Given the description of an element on the screen output the (x, y) to click on. 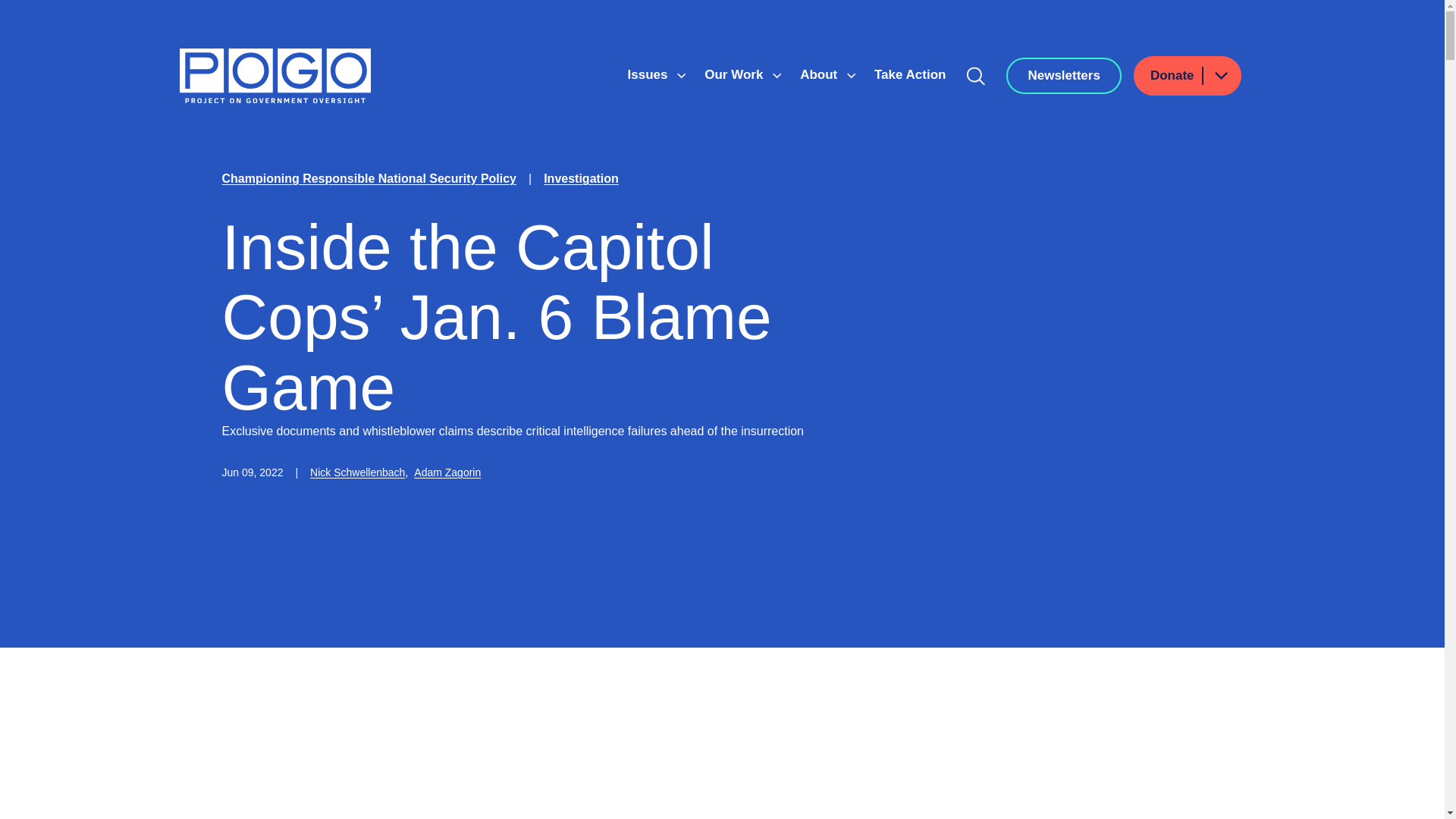
Show submenu for Donate (1220, 75)
Show submenu for Our Work (777, 75)
Newsletters (1063, 75)
Home (274, 75)
Take Action (909, 74)
Issues (649, 74)
Show submenu for About (851, 75)
Donate (1187, 75)
About (820, 74)
Search (976, 75)
Show submenu for Issues (681, 75)
Our Work (735, 74)
